Given the description of an element on the screen output the (x, y) to click on. 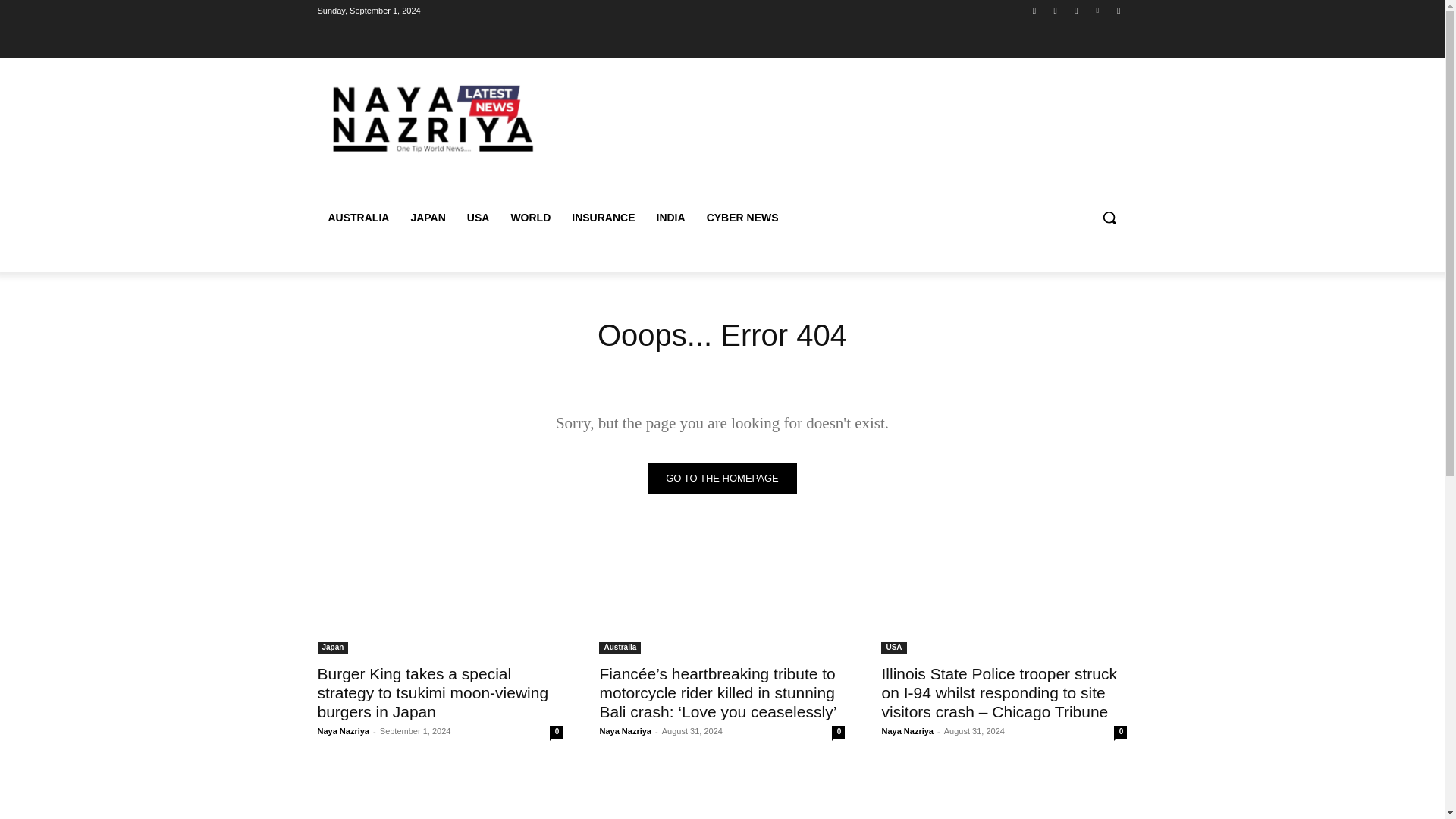
Australia (619, 647)
INSURANCE (602, 217)
CYBER NEWS (742, 217)
Japan (332, 647)
0 (1119, 731)
0 (837, 731)
USA (892, 647)
Youtube (1117, 9)
